Given the description of an element on the screen output the (x, y) to click on. 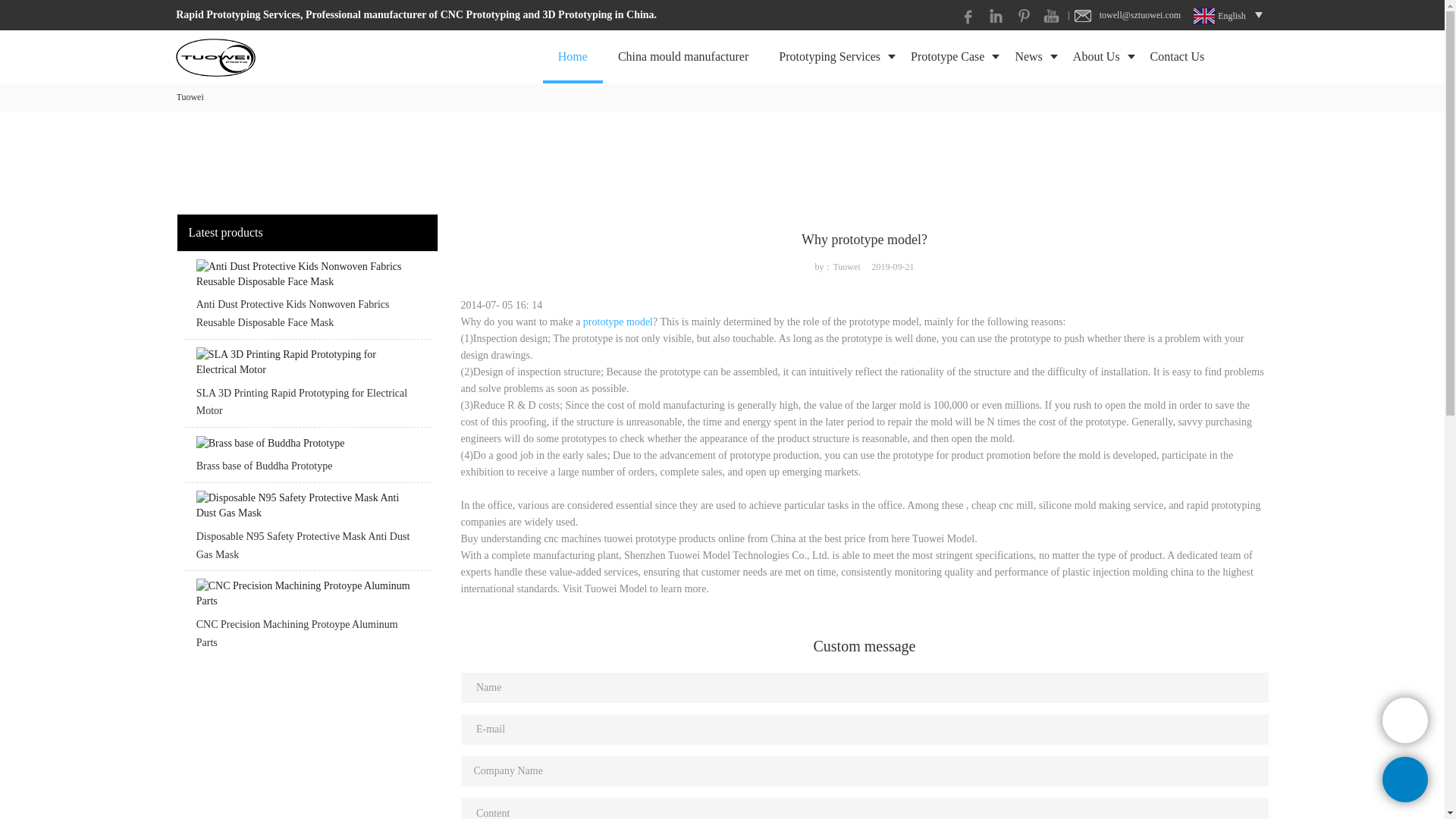
Prototyping Services (828, 56)
About Us (1096, 56)
Home (572, 56)
Prototype Case (946, 56)
China mould manufacturer (682, 56)
News (1027, 56)
